Given the description of an element on the screen output the (x, y) to click on. 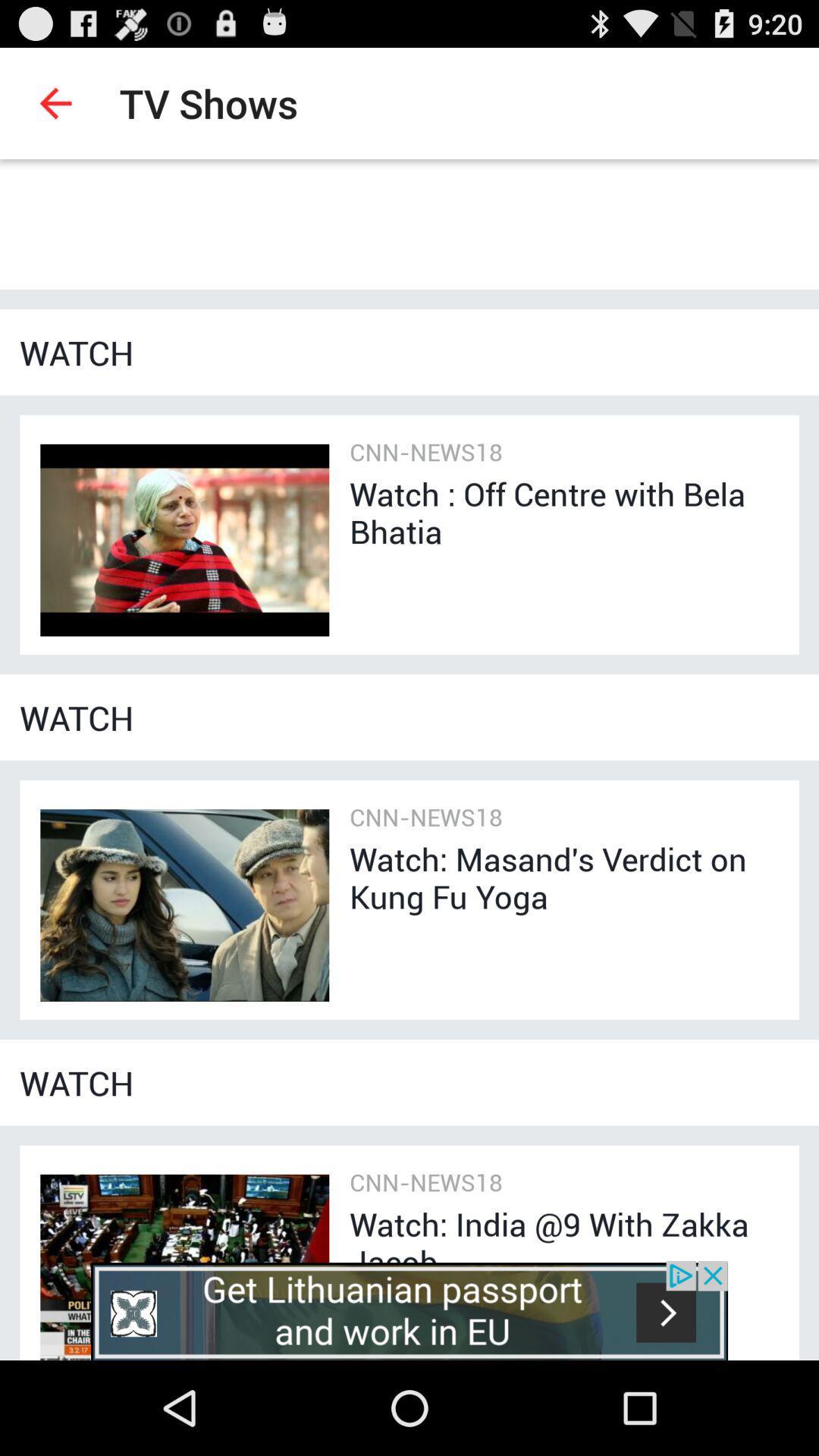
advertisement bar (409, 1310)
